Given the description of an element on the screen output the (x, y) to click on. 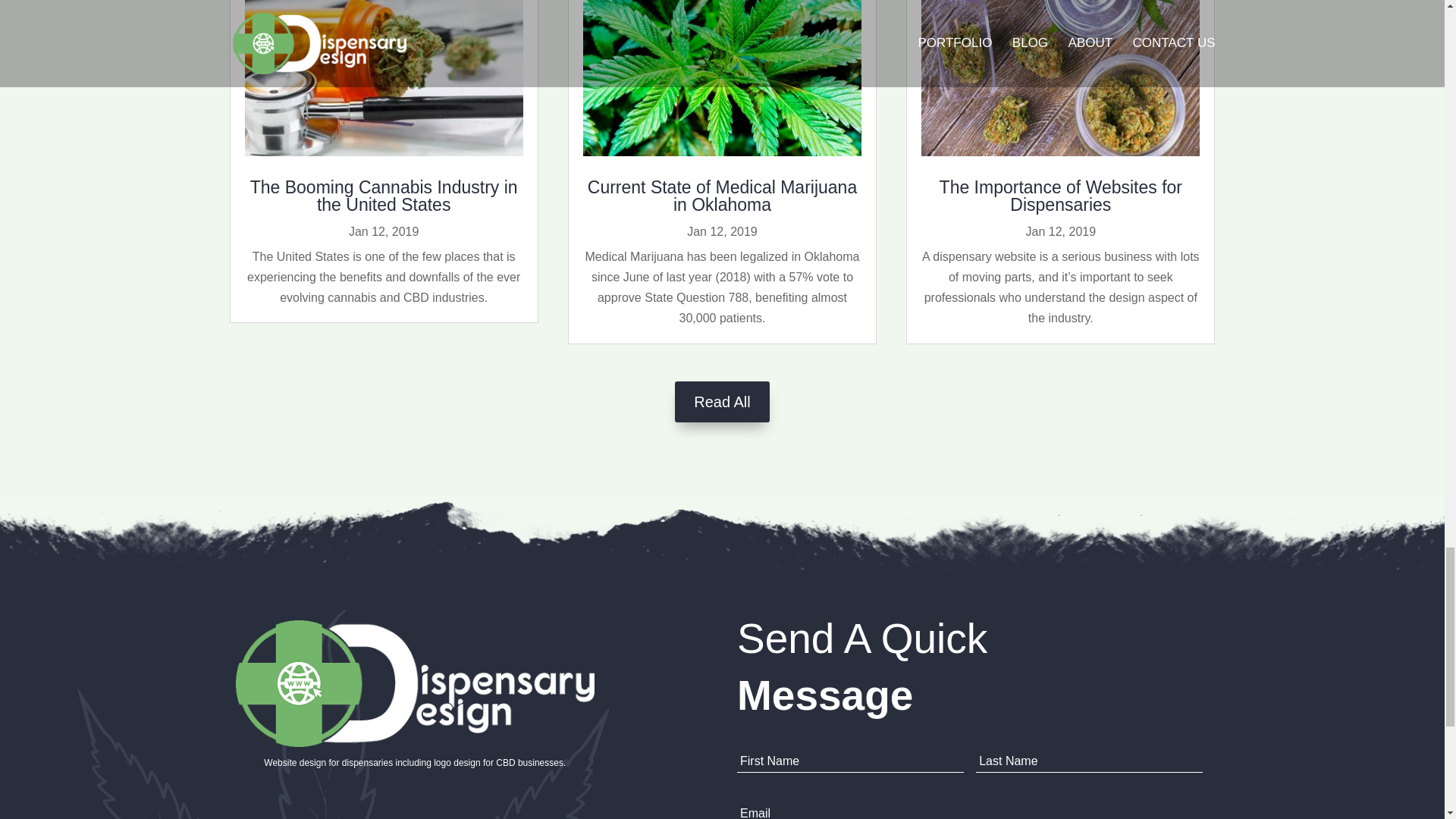
The Importance of Websites for Dispensaries (1060, 195)
Current State of Medical Marijuana in Oklahoma (722, 195)
Read All (722, 401)
The Booming Cannabis Industry in the United States (384, 195)
